Given the description of an element on the screen output the (x, y) to click on. 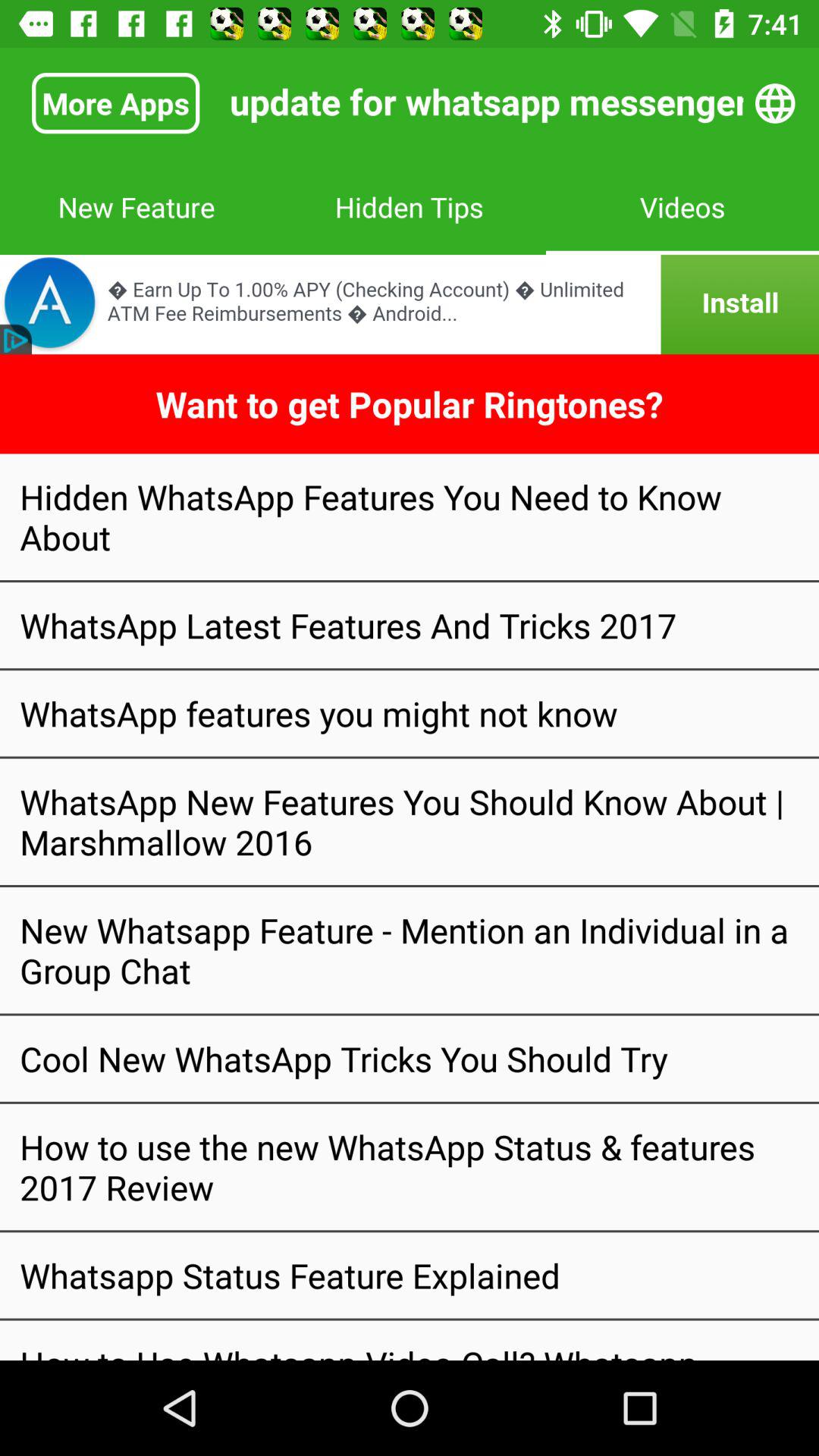
websearch (775, 103)
